Given the description of an element on the screen output the (x, y) to click on. 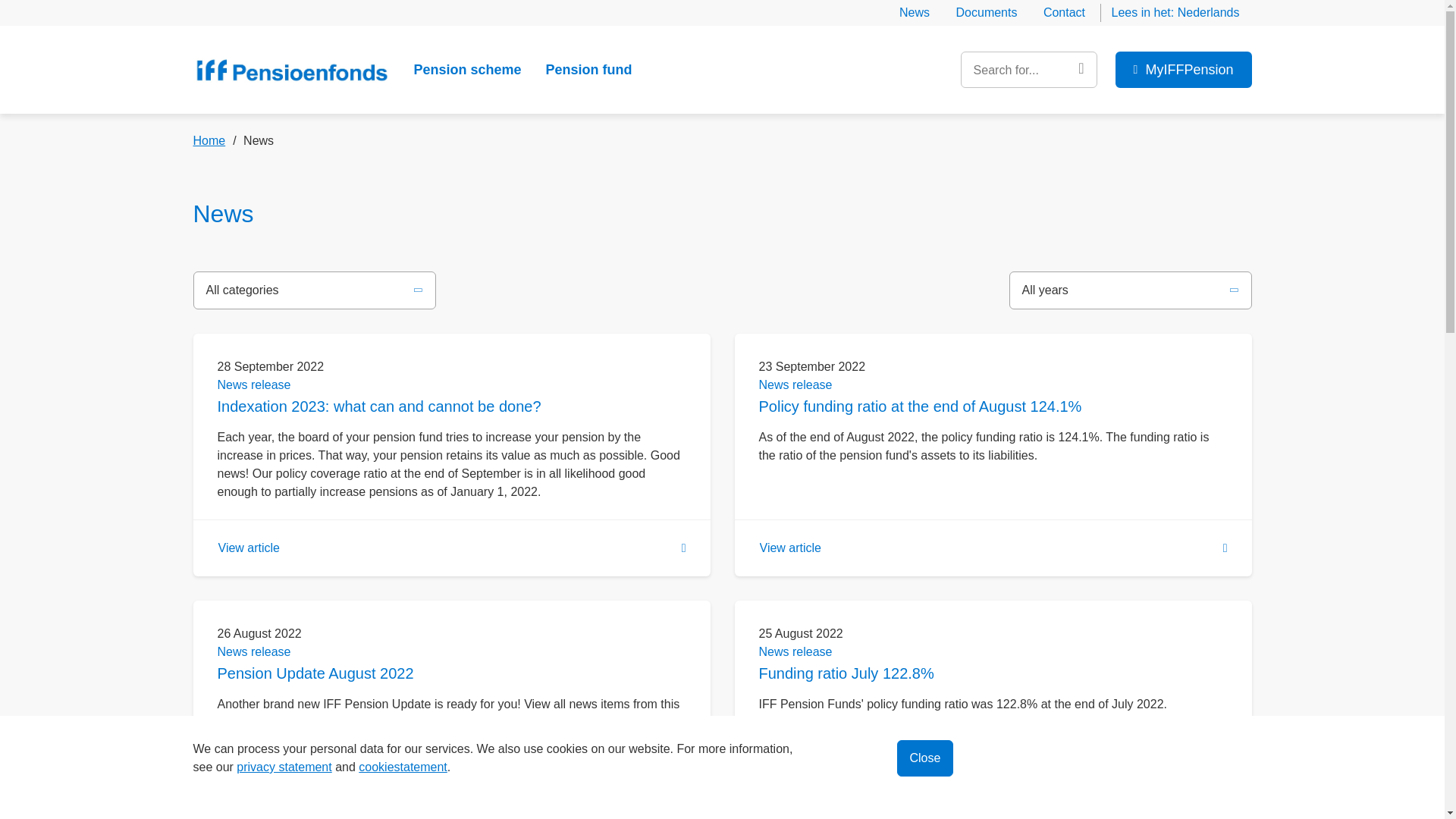
Pension scheme (467, 69)
Home (216, 140)
privacy statement (283, 766)
View article (450, 778)
Home (216, 140)
All categories (242, 289)
Contact (1063, 11)
Close (924, 758)
News (914, 11)
Home (291, 69)
